Given the description of an element on the screen output the (x, y) to click on. 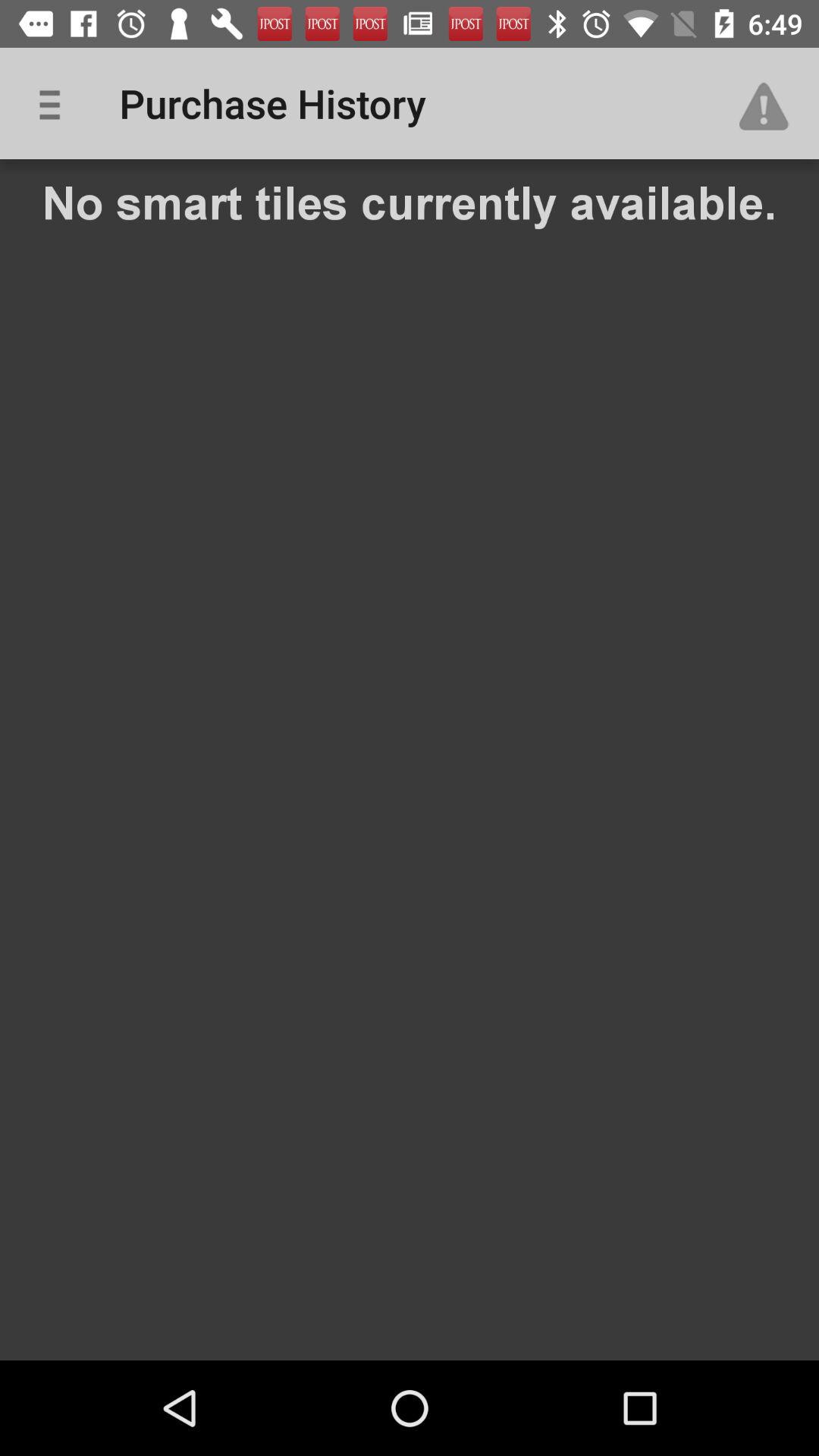
tap item above the no smart tiles (771, 103)
